Given the description of an element on the screen output the (x, y) to click on. 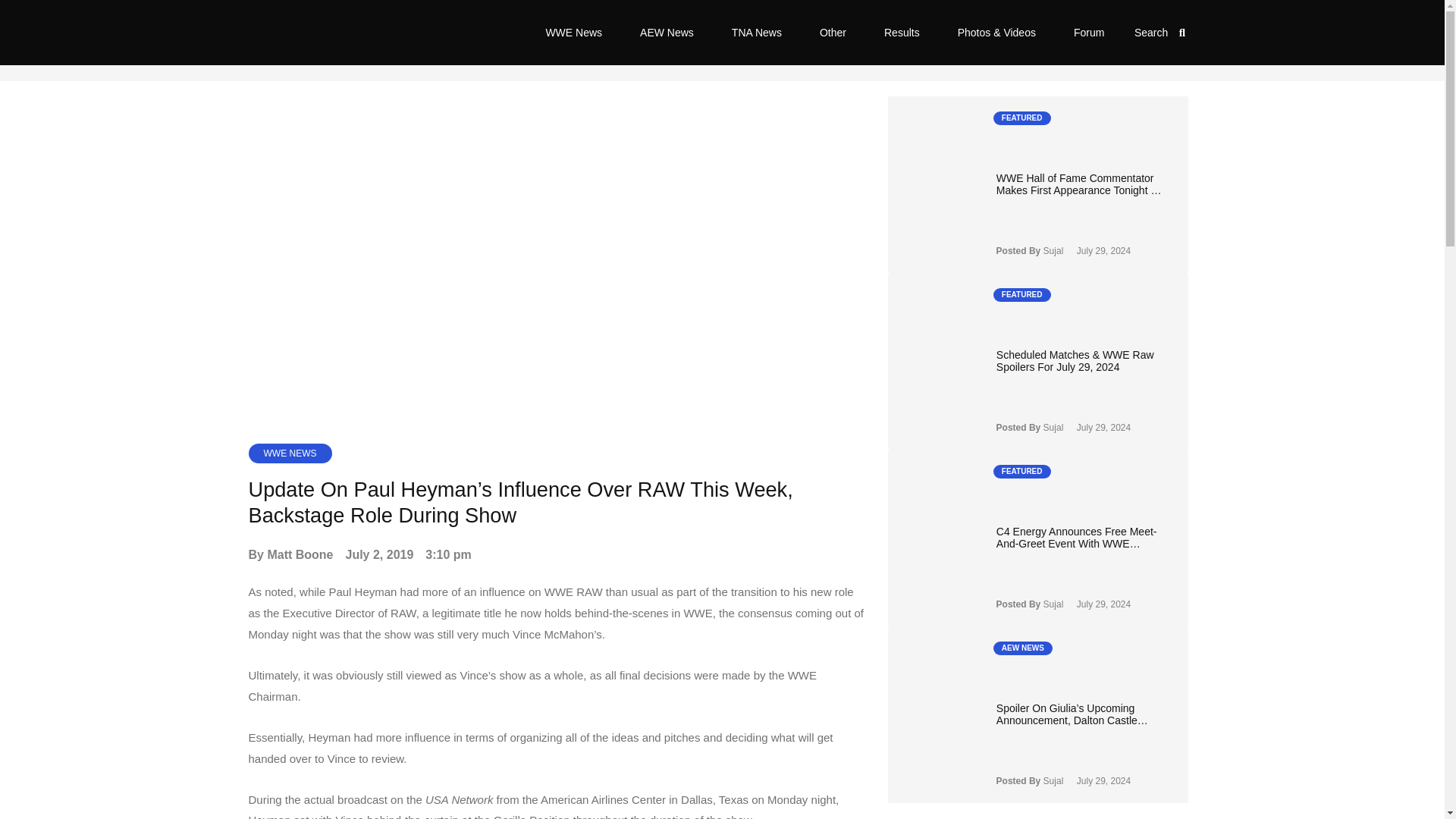
By Matt Boone (290, 554)
Forum (1088, 32)
July 2, 2019 (379, 554)
WWE News (573, 32)
Results (901, 32)
Other (832, 32)
TNA News (756, 32)
AEW News (667, 32)
WWE NEWS (289, 453)
